Given the description of an element on the screen output the (x, y) to click on. 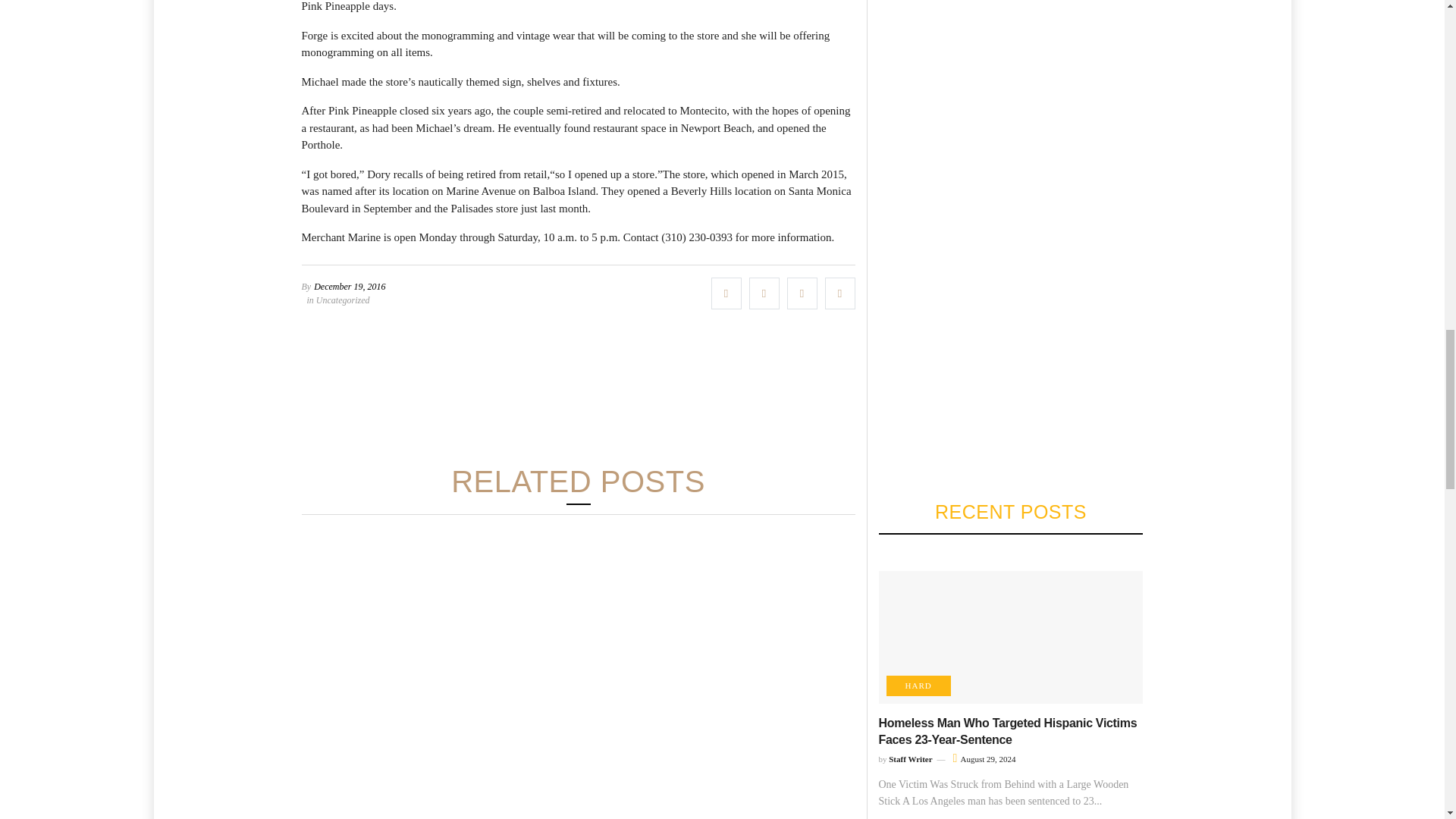
Staff Writer (909, 758)
3rd party ad content (577, 391)
HARD (917, 685)
August 29, 2024 (984, 758)
